Given the description of an element on the screen output the (x, y) to click on. 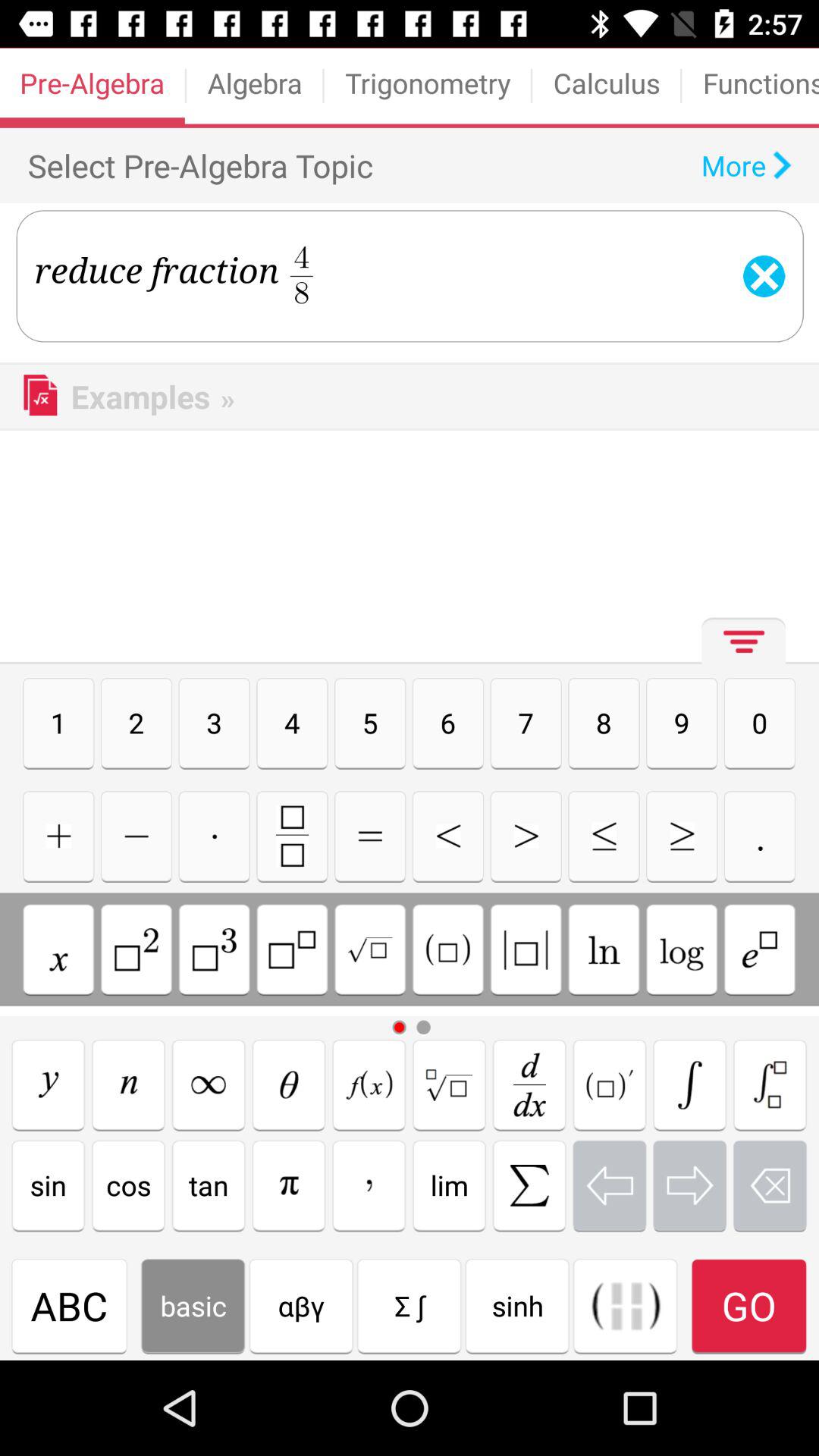
select y button (48, 1084)
